Given the description of an element on the screen output the (x, y) to click on. 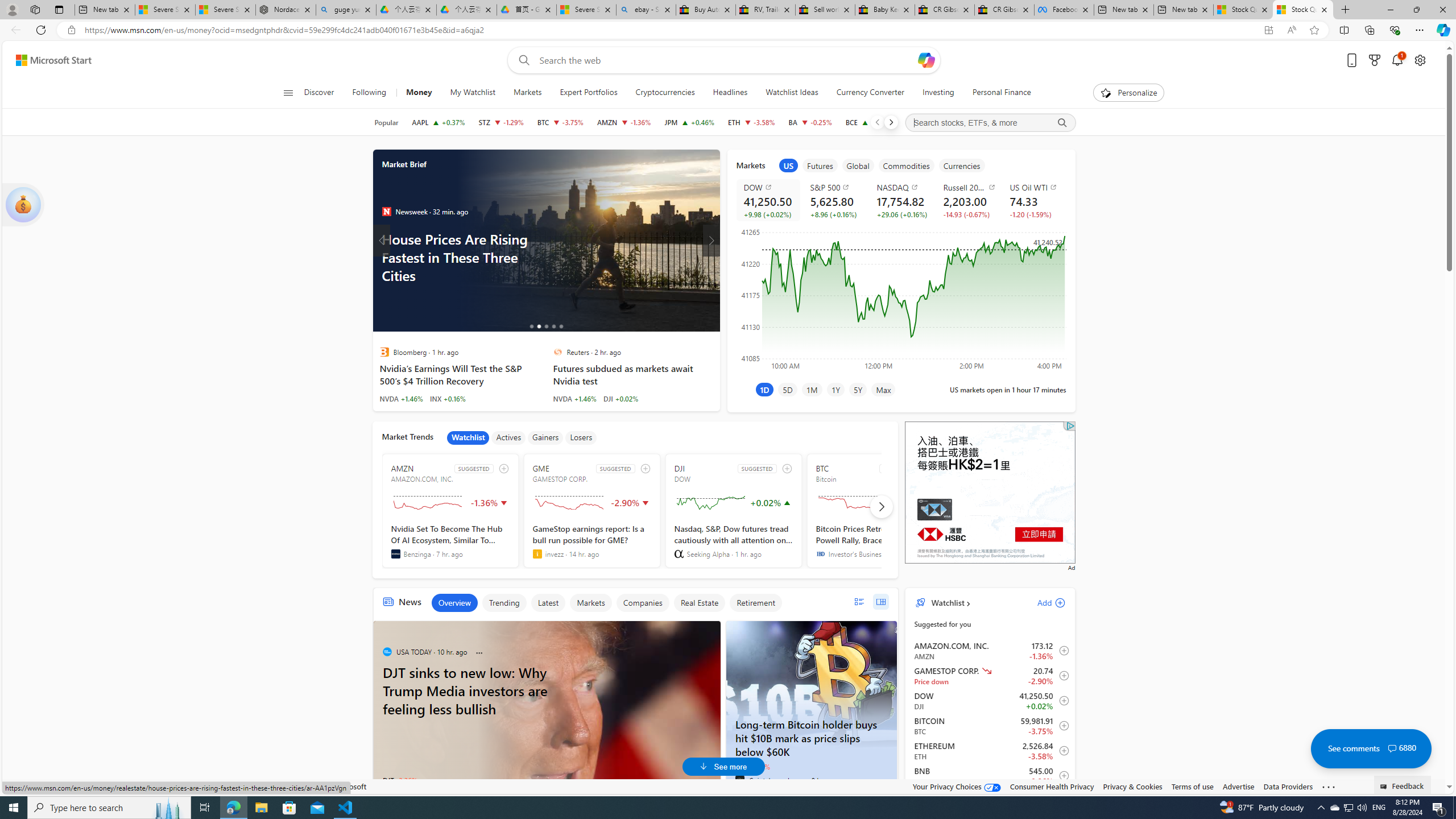
USA TODAY (386, 651)
Currency Converter (869, 92)
Russell 2000 RUT decrease 2,203.00 -14.93 -0.67% (968, 200)
grid layout (880, 601)
Cryptocurrencies (664, 92)
NVDA +1.46% (574, 397)
Advertisement (989, 492)
Class: button-glyph (287, 92)
NASDAQ (903, 187)
Currencies (962, 164)
5Y (857, 389)
ETH Ethereum decrease 2,526.84 -90.44 -3.58% (750, 122)
